Given the description of an element on the screen output the (x, y) to click on. 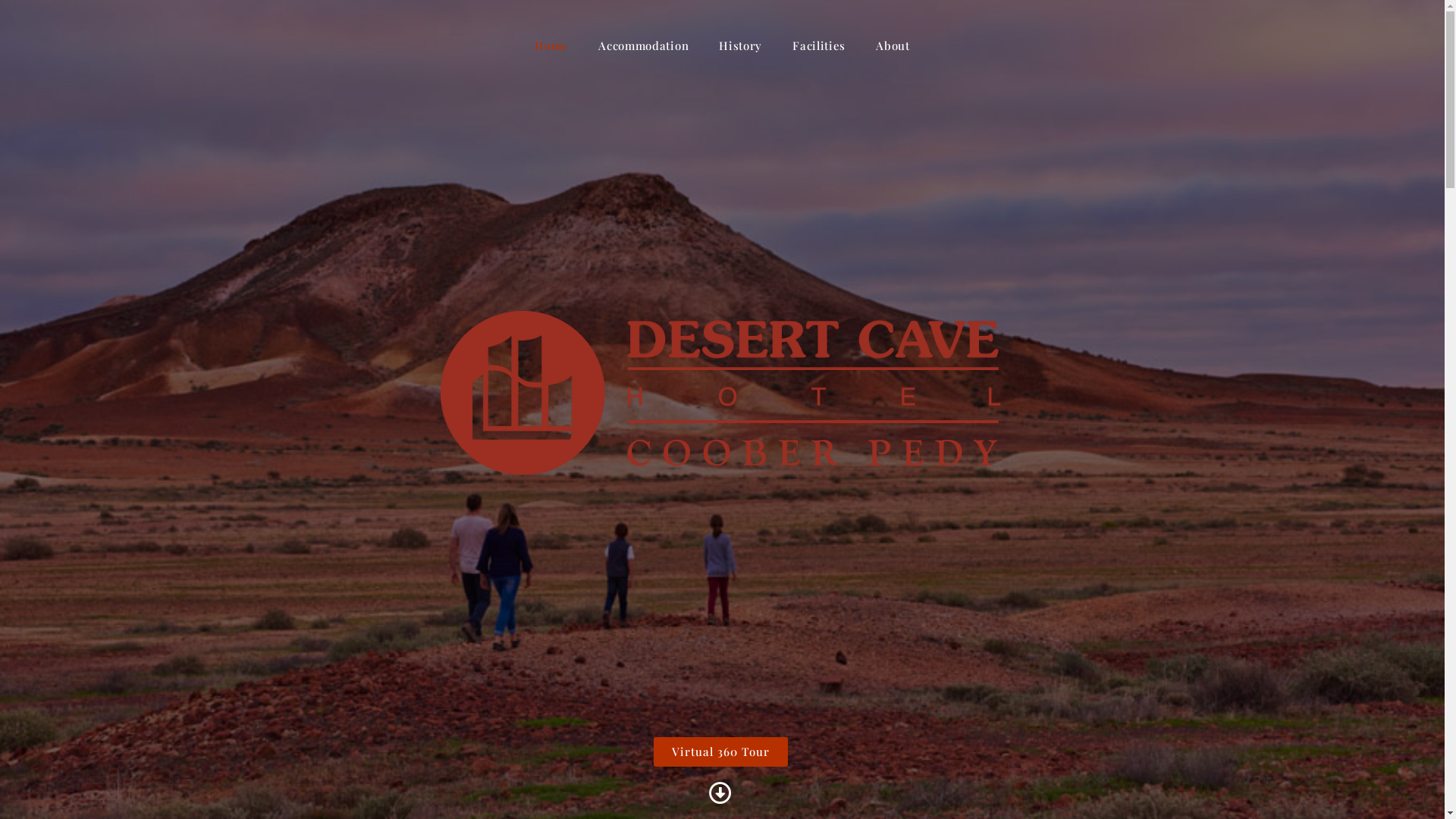
History Element type: text (740, 45)
Facilities Element type: text (818, 45)
Accommodation Element type: text (643, 45)
Virtual 360 Tour Element type: text (720, 751)
Home Element type: text (551, 45)
About Element type: text (892, 45)
